Given the description of an element on the screen output the (x, y) to click on. 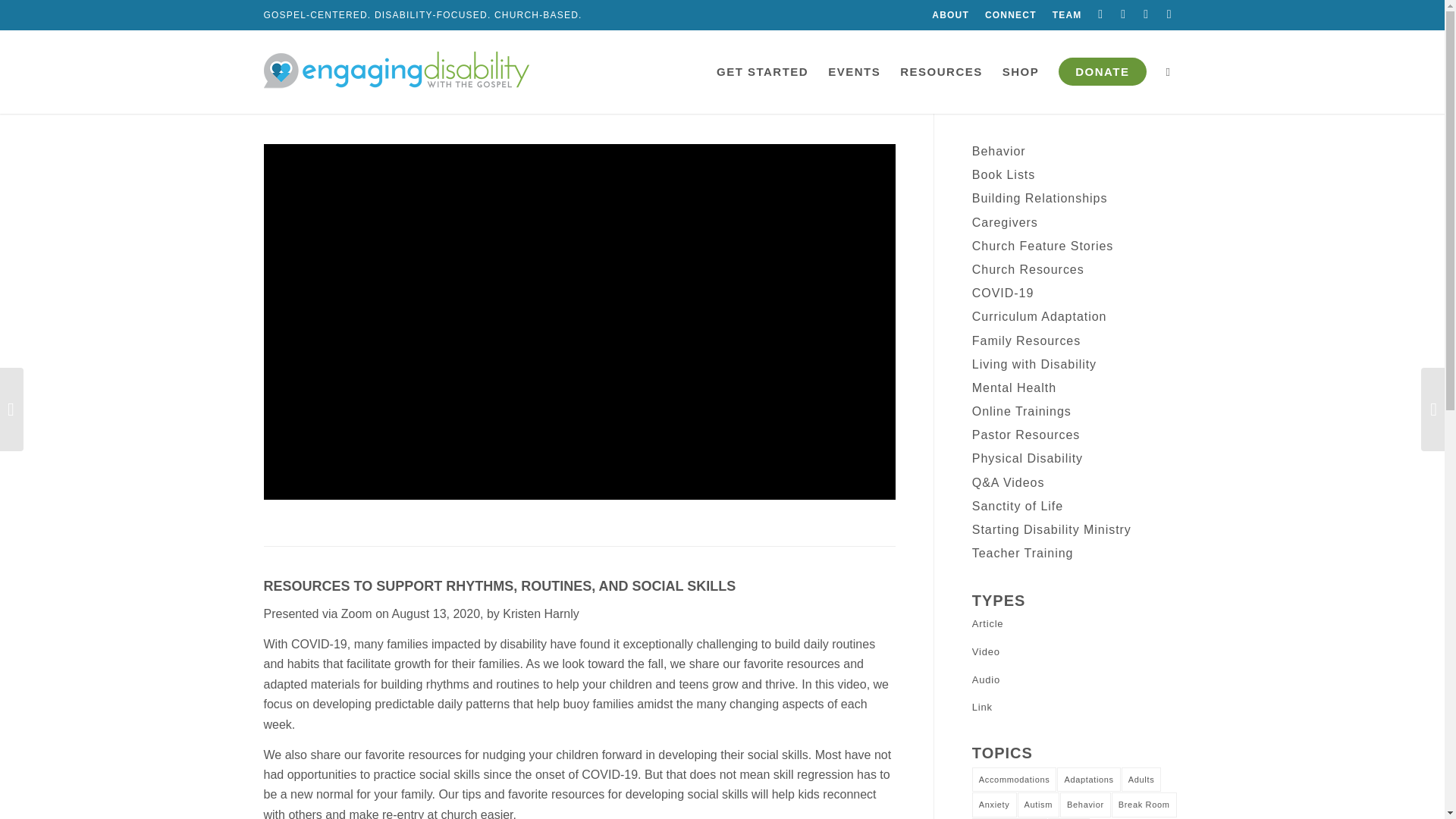
Book Lists (1003, 174)
Church Resources (1028, 269)
ABOUT (950, 14)
Video (1076, 651)
COVID-19 (1002, 292)
Audio (1076, 680)
Church Feature Stories (1042, 245)
GET STARTED (762, 71)
TEAM (1066, 14)
RESOURCES (940, 71)
